Given the description of an element on the screen output the (x, y) to click on. 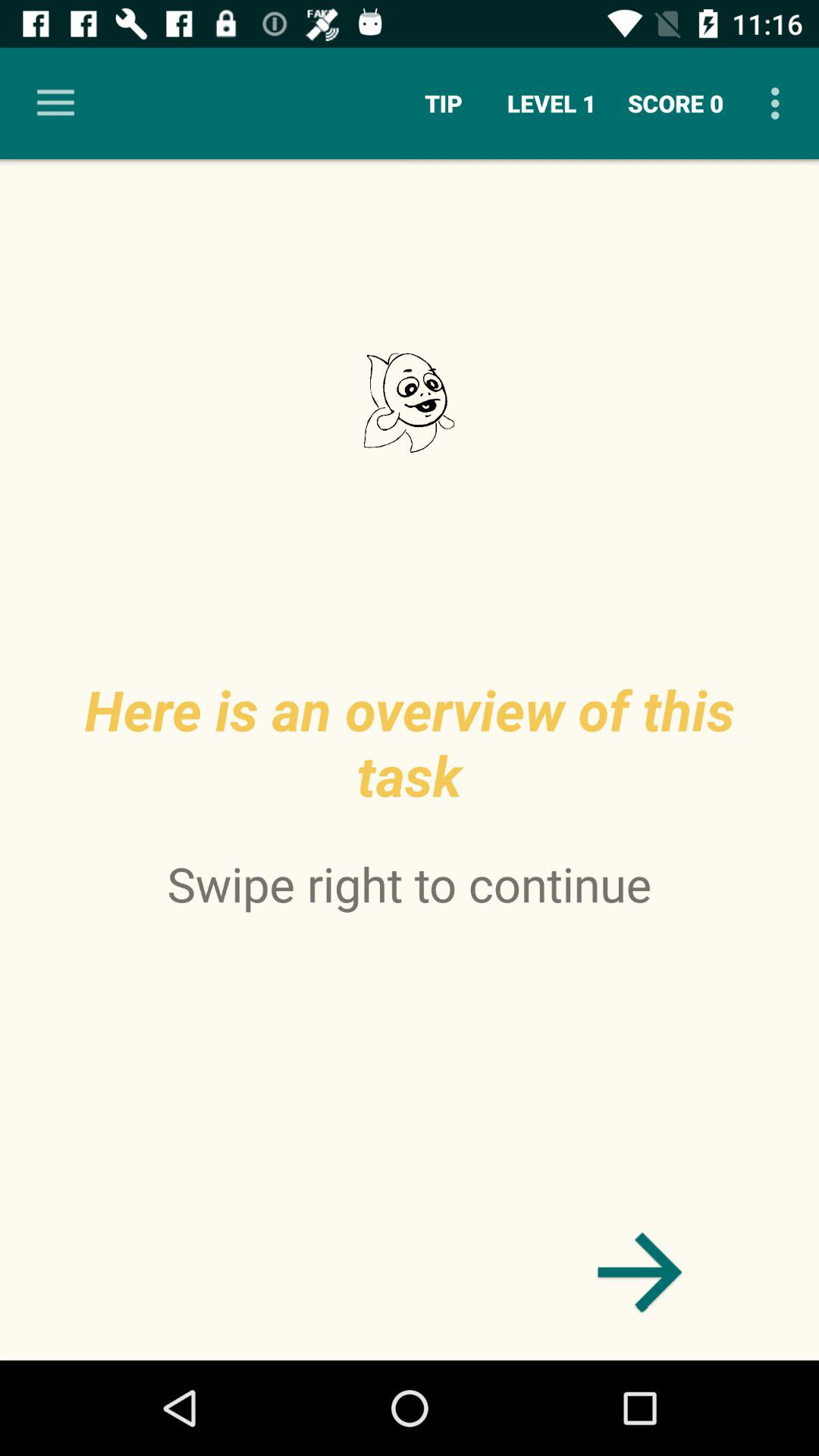
flip to tip item (443, 103)
